Given the description of an element on the screen output the (x, y) to click on. 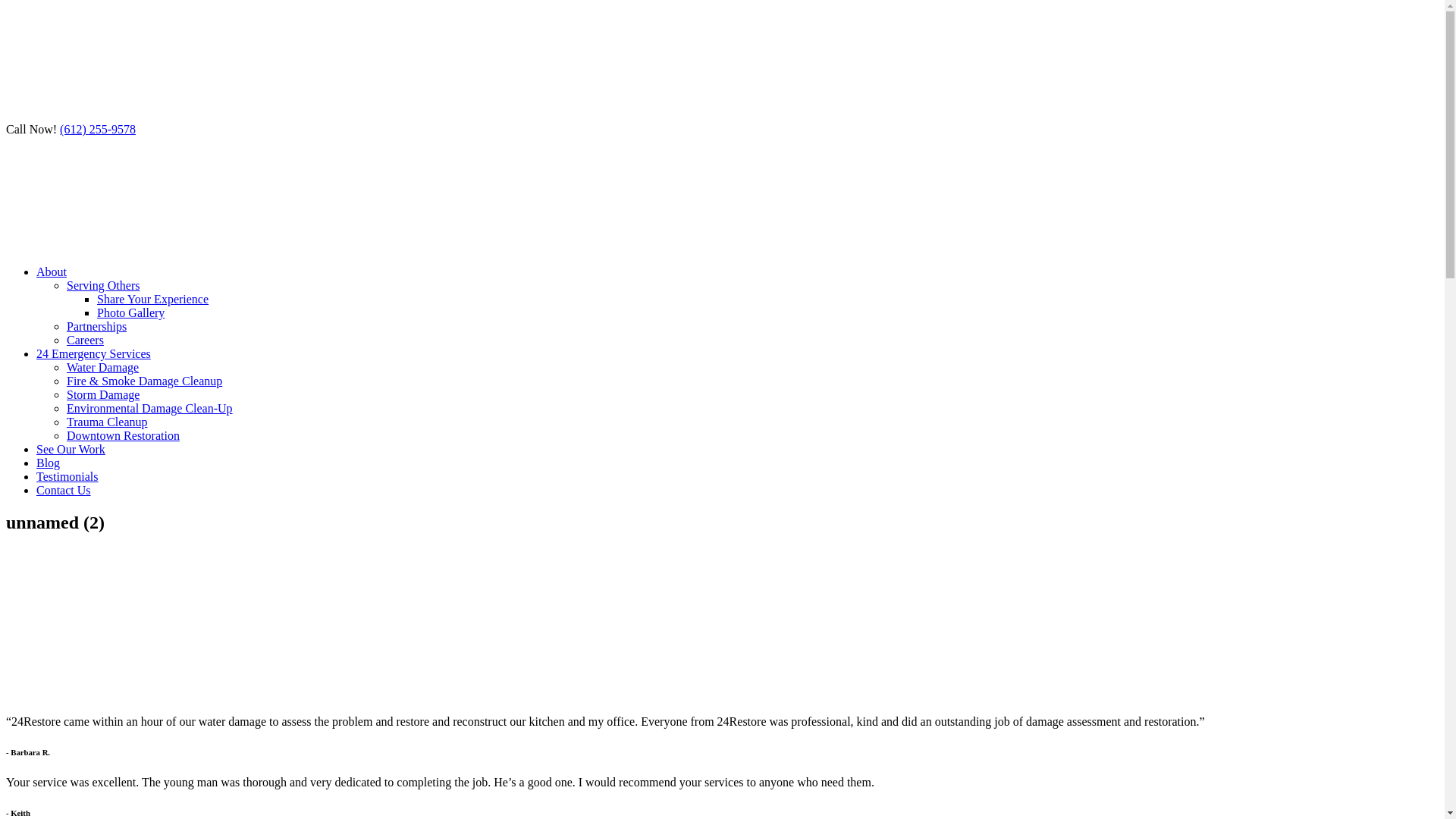
See Our Work Element type: text (70, 448)
Trauma Cleanup Element type: text (106, 421)
Water Damage Element type: text (102, 366)
Storm Damage Element type: text (102, 394)
Environmental Damage Clean-Up Element type: text (149, 407)
Careers Element type: text (84, 339)
(612) 255-9578 Element type: text (97, 128)
About Element type: text (51, 271)
Share Your Experience Element type: text (152, 298)
Testimonials Element type: text (67, 476)
Blog Element type: text (47, 462)
Contact Us Element type: text (63, 489)
Fire & Smoke Damage Cleanup Element type: text (144, 380)
24 Emergency Services Element type: text (93, 353)
Serving Others Element type: text (102, 285)
Downtown Restoration Element type: text (122, 435)
Photo Gallery Element type: text (130, 312)
Partnerships Element type: text (96, 326)
